Given the description of an element on the screen output the (x, y) to click on. 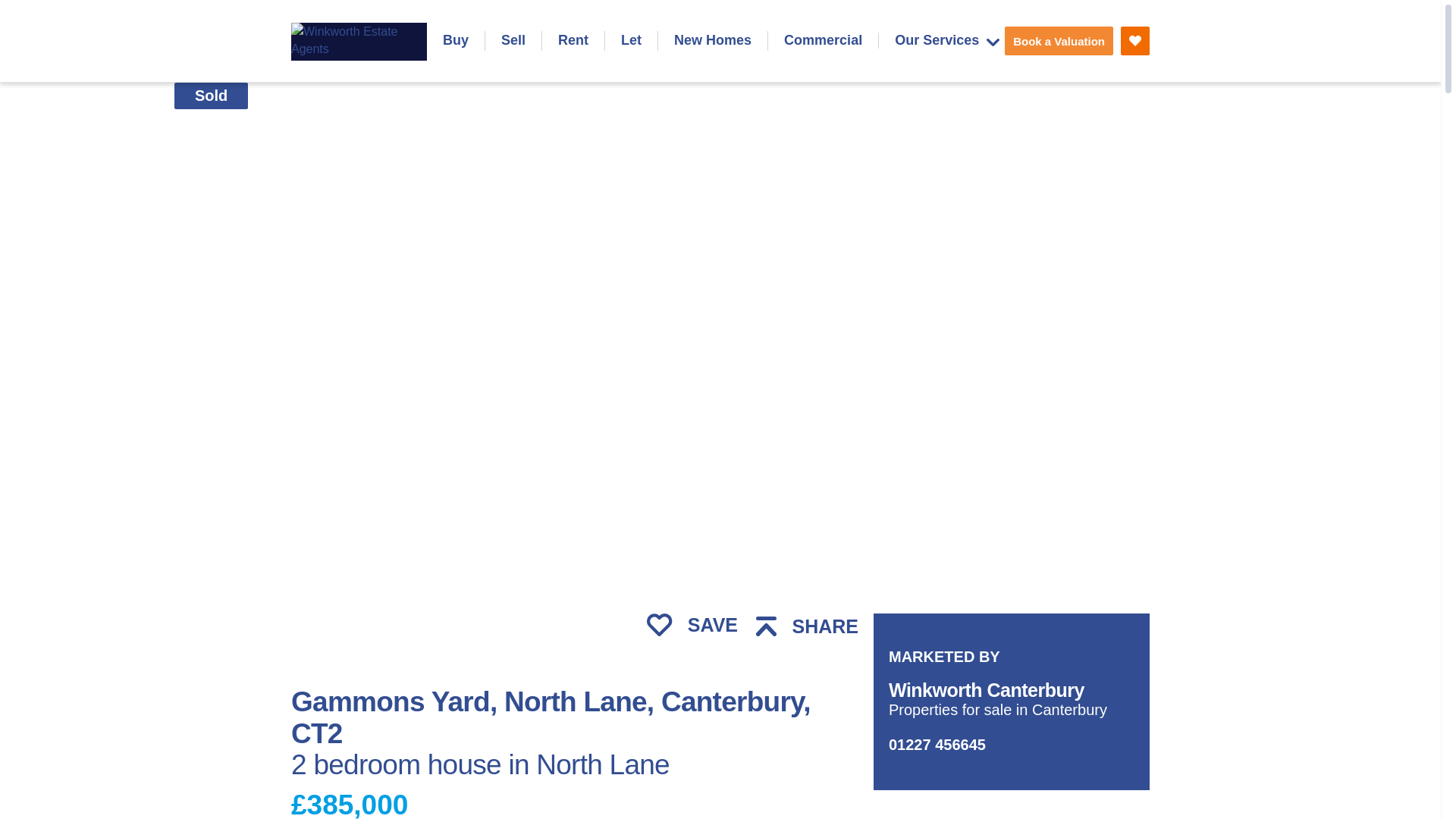
Rent (572, 40)
Sell (512, 40)
Commercial (822, 40)
Book a Valuation (1058, 40)
Let (631, 40)
New Homes (712, 40)
Winkworth Canterbury (986, 690)
Buy (455, 40)
Our Services (946, 40)
